Given the description of an element on the screen output the (x, y) to click on. 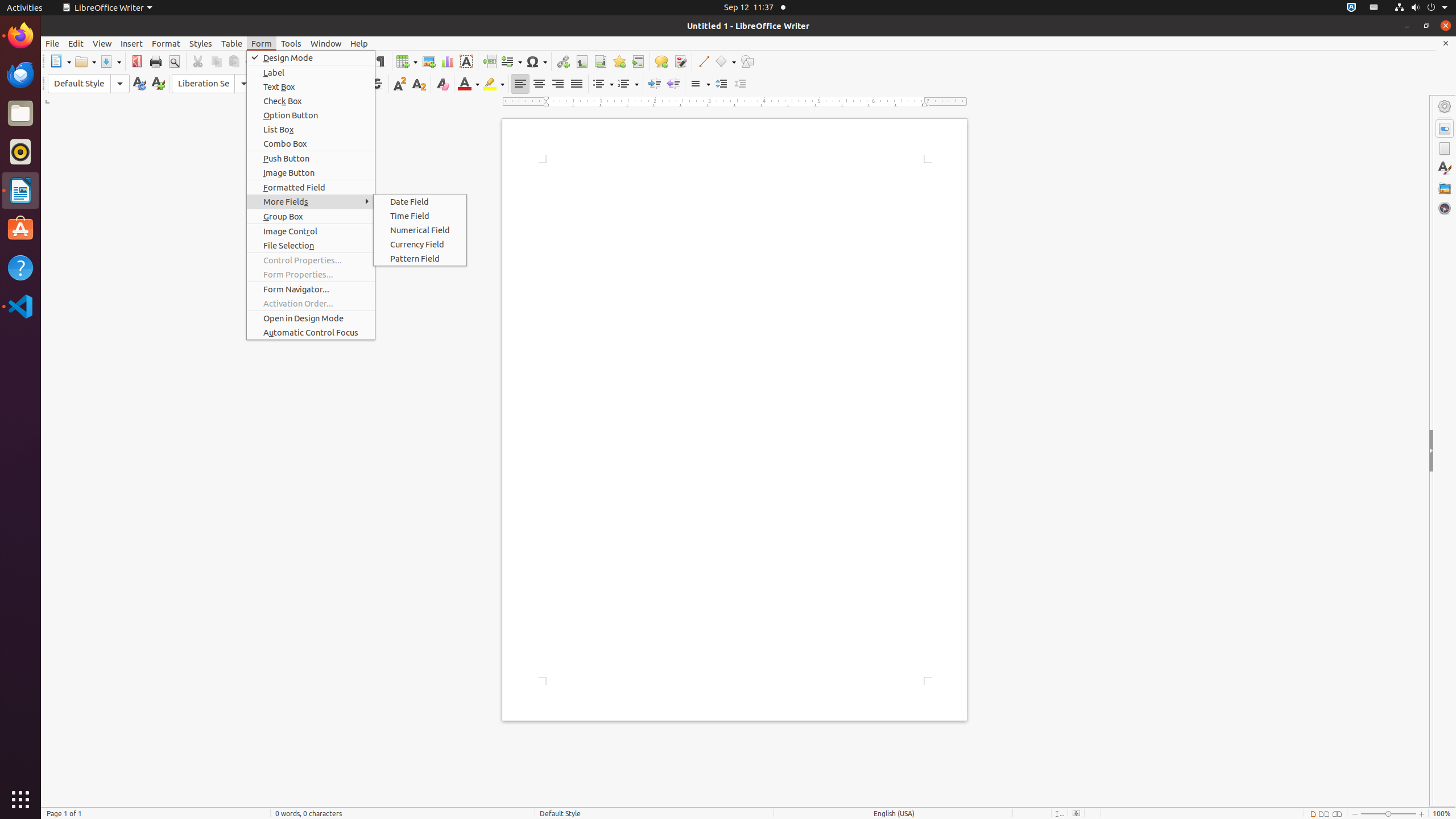
Track Changes Functions Element type: toggle-button (679, 61)
Table Element type: menu (231, 43)
Chart Element type: push-button (446, 61)
Bullets Element type: push-button (602, 83)
Font Size Element type: combo-box (282, 83)
